Given the description of an element on the screen output the (x, y) to click on. 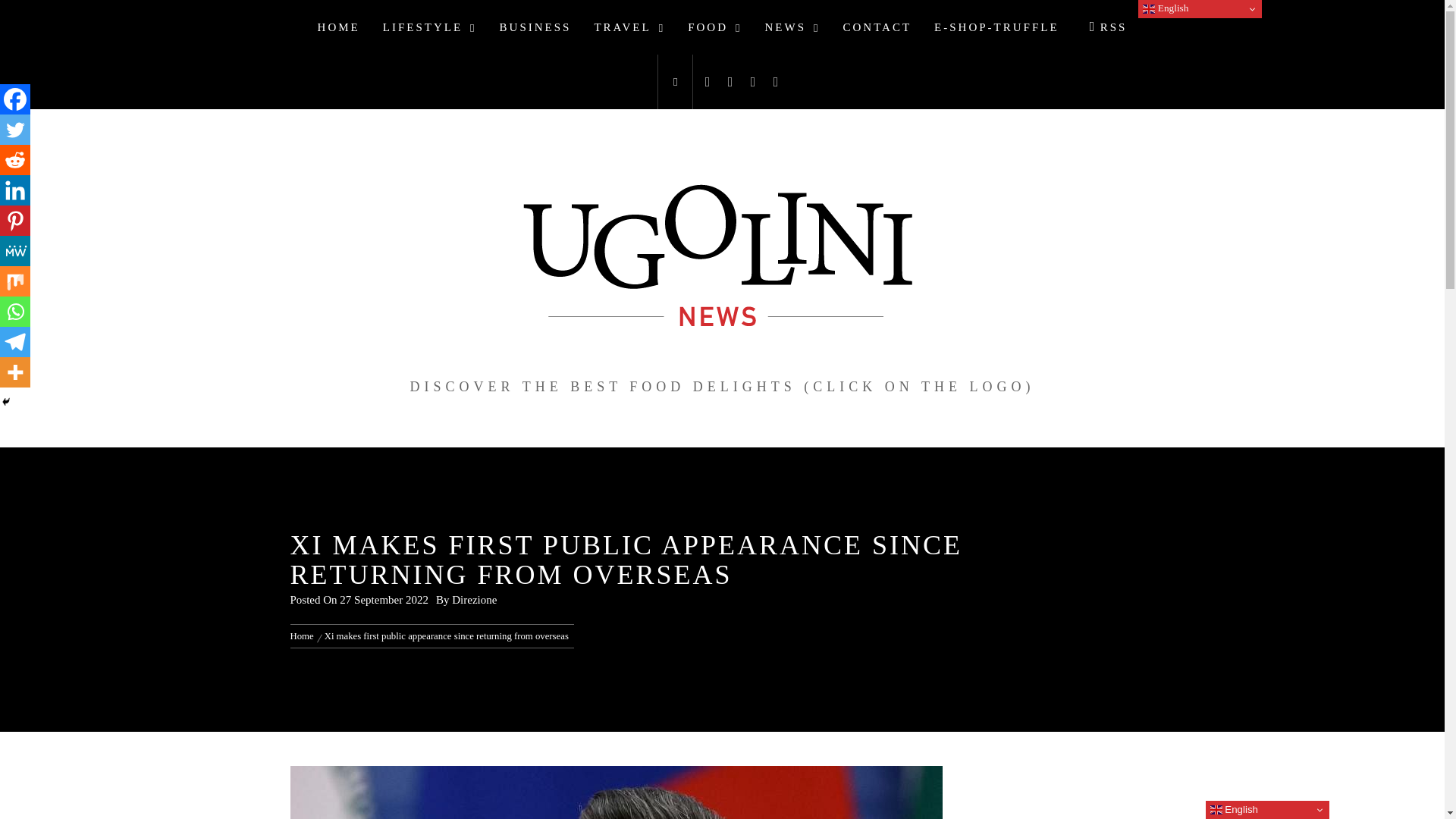
E-SHOP-TRUFFLE (996, 27)
HOME (338, 27)
CONTACT (877, 27)
ACCETTA (1076, 24)
NEWS (791, 27)
BUSINESS (535, 27)
FOOD (714, 27)
INFO (1133, 24)
Facebook (15, 99)
TRAVEL (629, 27)
